Given the description of an element on the screen output the (x, y) to click on. 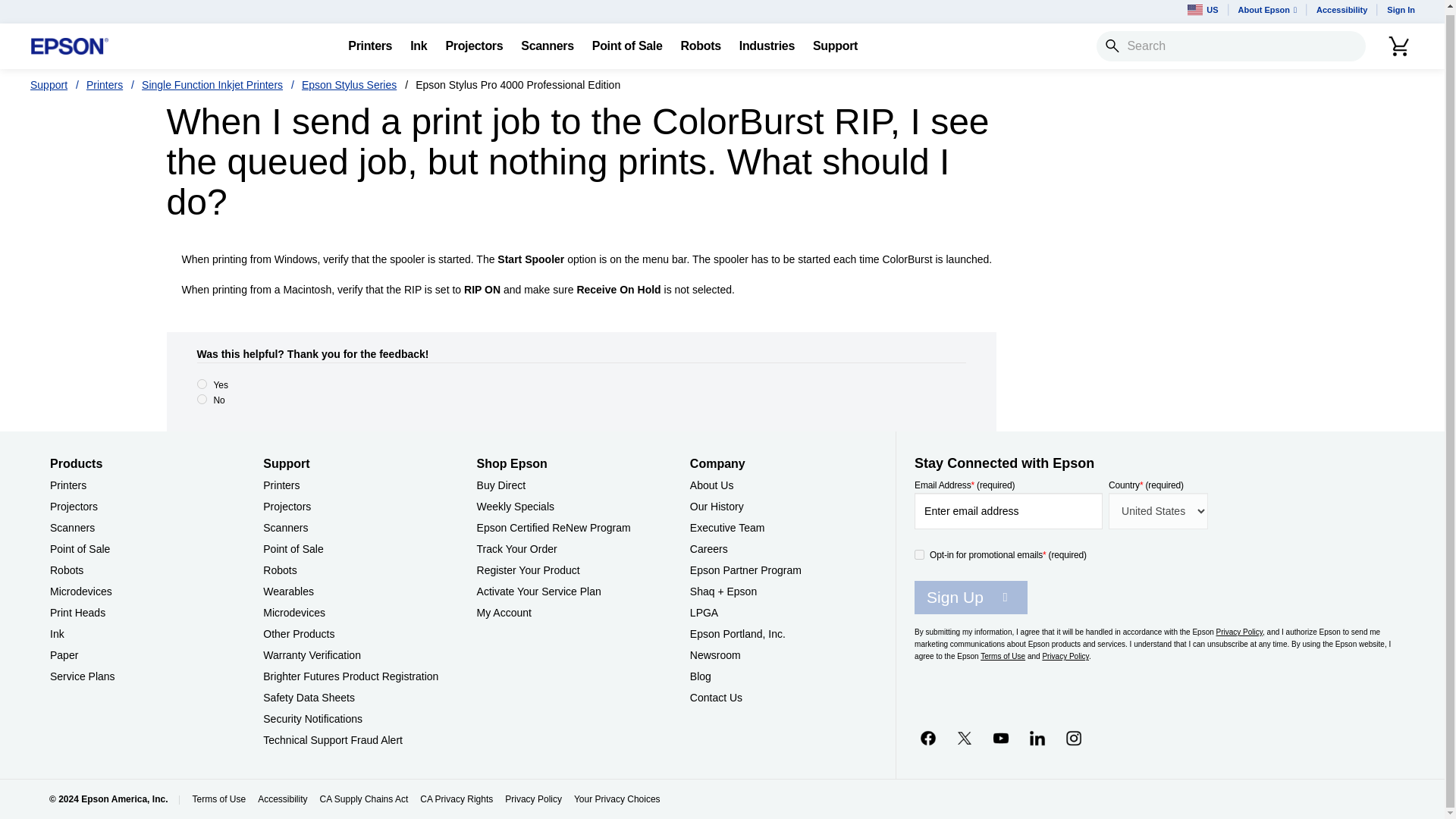
Accessibility (1341, 11)
Accessibility (1341, 11)
no (201, 398)
About Epson (1267, 11)
Epson Logo (69, 46)
yes (201, 384)
US (1202, 11)
US (1202, 11)
Sign In (1400, 11)
Sign In (1400, 11)
